Given the description of an element on the screen output the (x, y) to click on. 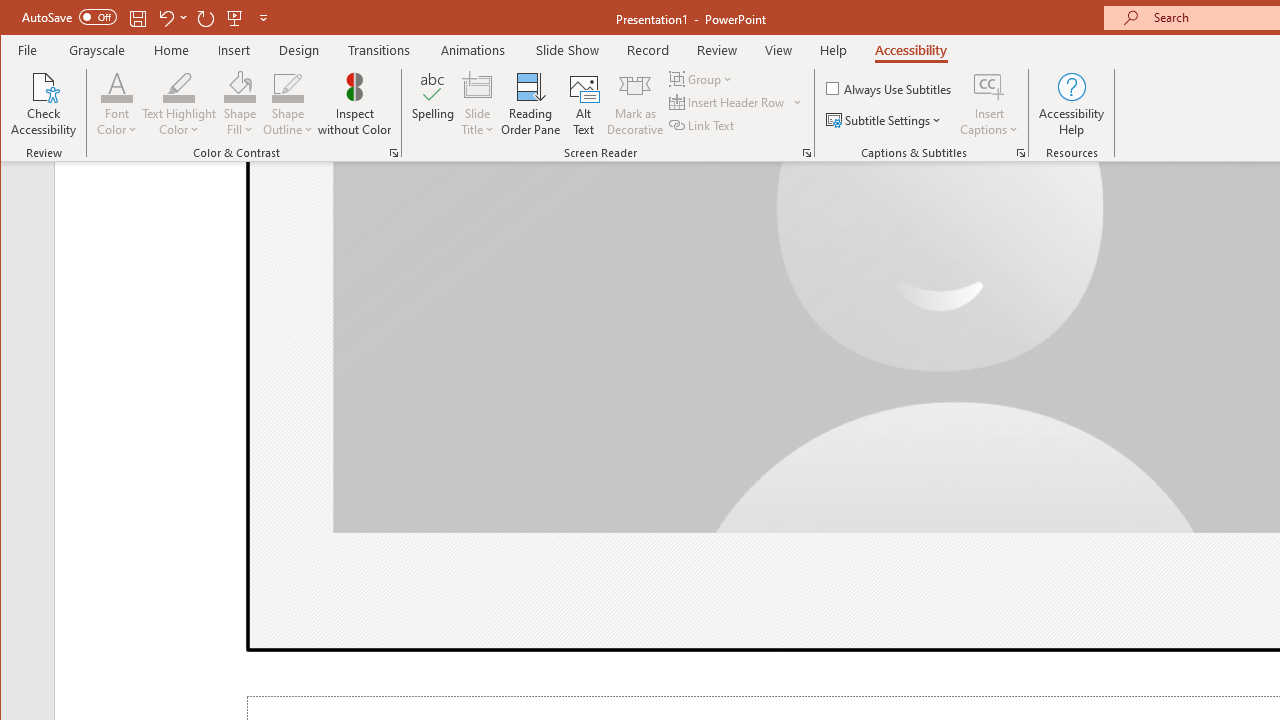
Mark as Decorative (635, 104)
Group (701, 78)
Shape Fill (239, 104)
Slide Title (477, 86)
Reading Order Pane (531, 104)
Shape Outline (288, 104)
Alt Text (584, 104)
Text Highlight Color (178, 104)
Shape Outline Blue, Accent 1 (288, 86)
Inspect without Color (355, 104)
Grayscale (97, 50)
